Given the description of an element on the screen output the (x, y) to click on. 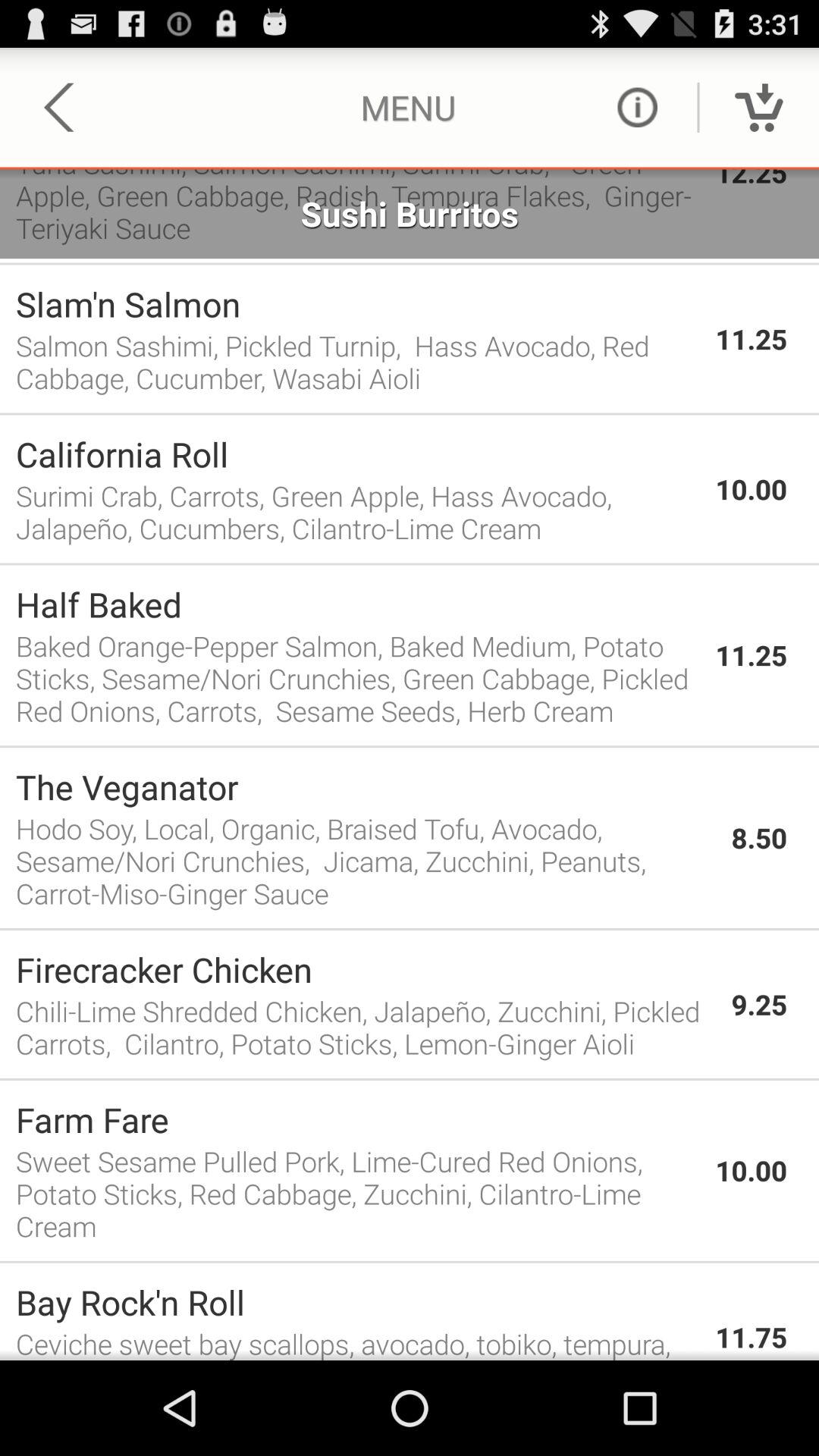
click icon to the left of the 10.00 app (357, 454)
